Given the description of an element on the screen output the (x, y) to click on. 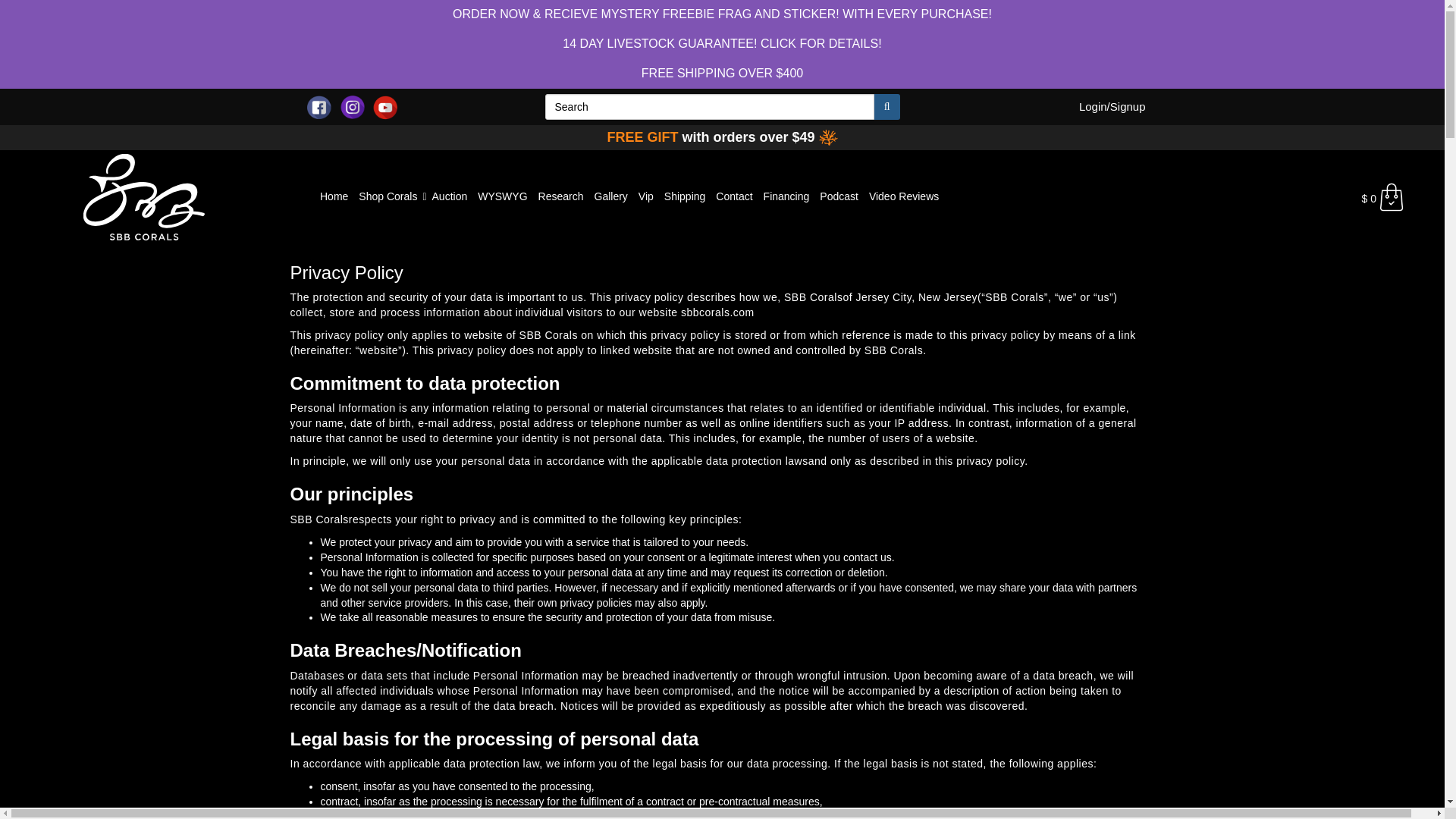
Auction (449, 195)
Shipping (685, 195)
Gallery (609, 195)
WYSWYG (501, 195)
Research (560, 195)
Shop Corals (387, 195)
Home (333, 195)
14 DAY LIVESTOCK GUARANTEE! CLICK FOR DETAILS! (721, 42)
